Given the description of an element on the screen output the (x, y) to click on. 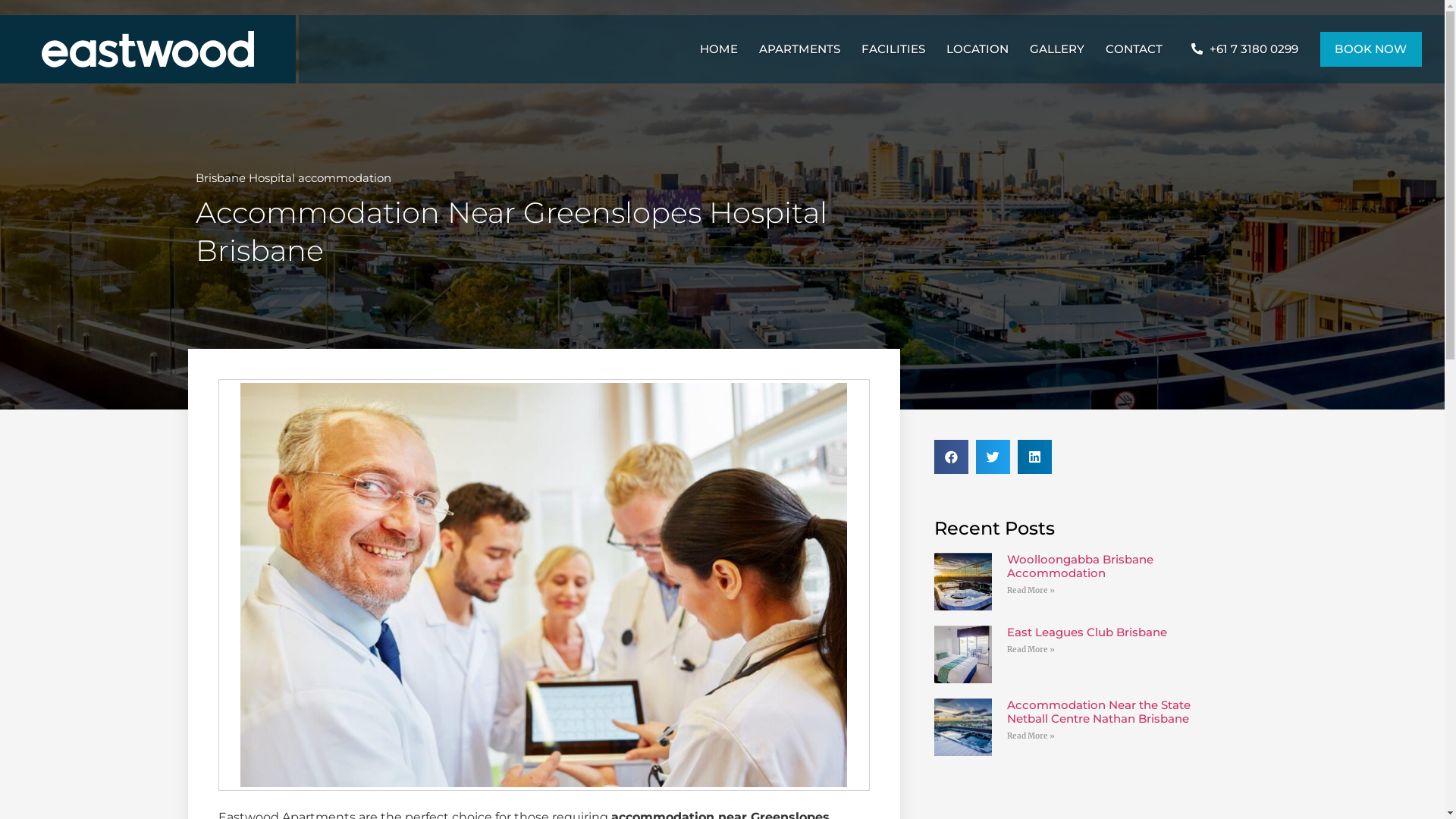
APARTMENTS Element type: text (798, 49)
LOCATION Element type: text (977, 49)
BOOK NOW Element type: text (1370, 48)
HOME Element type: text (717, 49)
Brisbane Hospital accommodation Element type: text (293, 177)
+61 7 3180 0299 Element type: text (1243, 49)
East Leagues Club Brisbane Element type: text (1087, 631)
Accommodation Near the State Netball Centre Nathan Brisbane Element type: text (1098, 711)
Woolloongabba Brisbane Accommodation Element type: text (1080, 566)
GALLERY Element type: text (1057, 49)
CONTACT Element type: text (1137, 49)
FACILITIES Element type: text (892, 49)
